Given the description of an element on the screen output the (x, y) to click on. 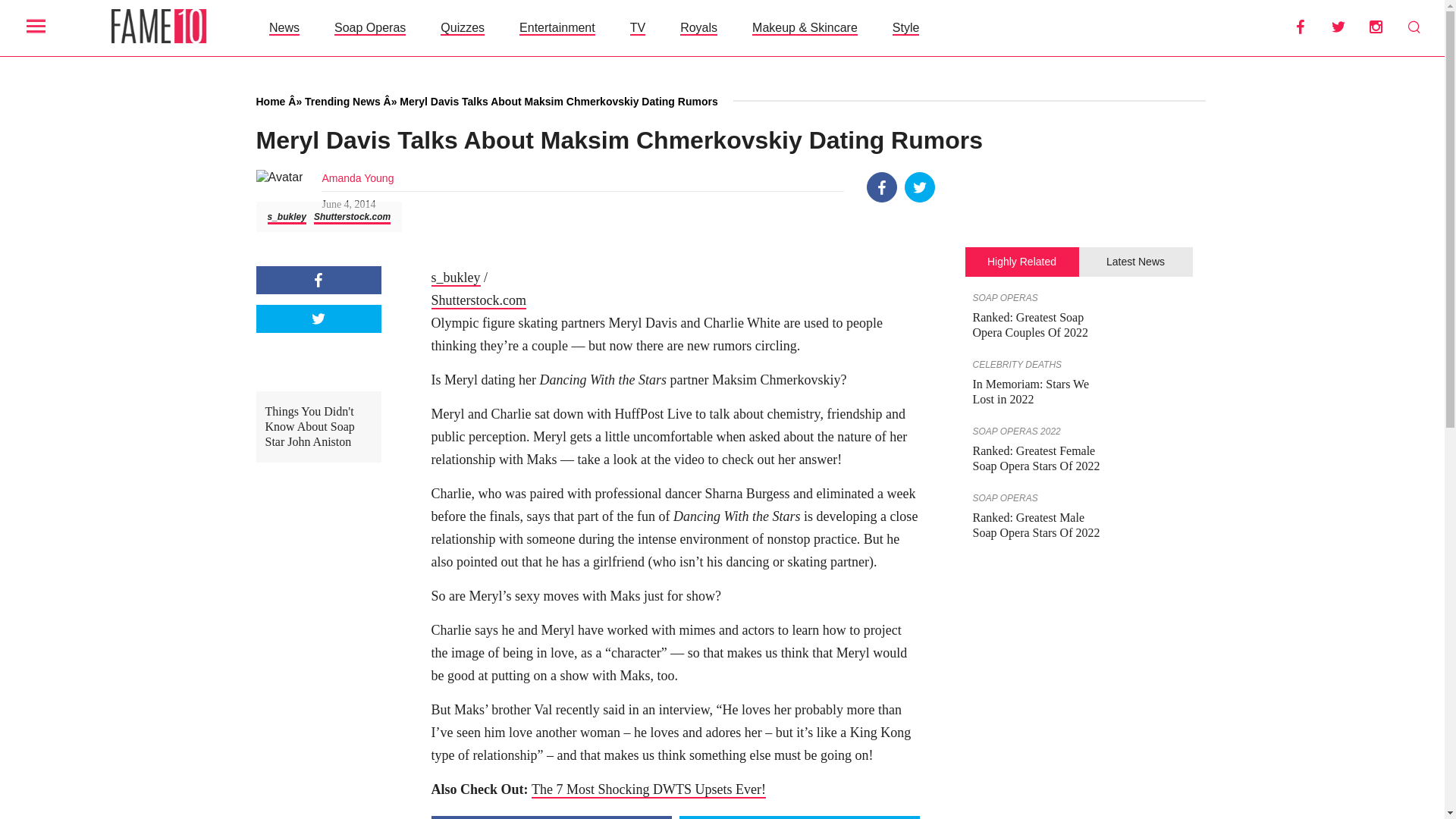
Shutterstock.com (352, 217)
Quizzes (462, 27)
TV (637, 27)
Style (906, 27)
Facebook (881, 186)
Royals (698, 27)
Twitter (318, 318)
Instagram (1376, 26)
Things You Didn't Know About Soap Star John Aniston (318, 426)
Home (270, 101)
Twitter (919, 186)
Facebook (318, 279)
News (284, 27)
Twitter (1337, 26)
Facebook (1299, 26)
